Given the description of an element on the screen output the (x, y) to click on. 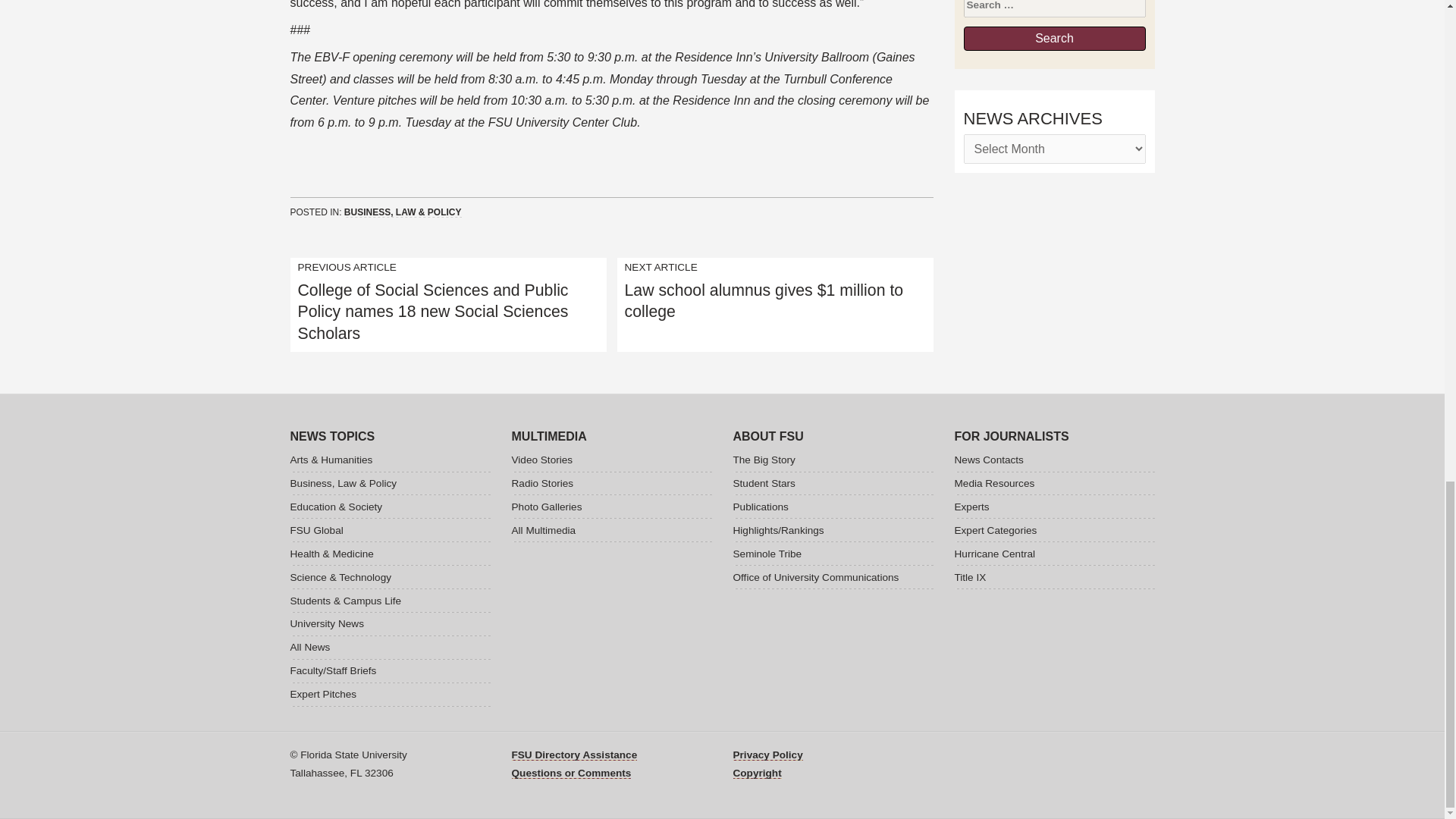
Search (1053, 37)
